Given the description of an element on the screen output the (x, y) to click on. 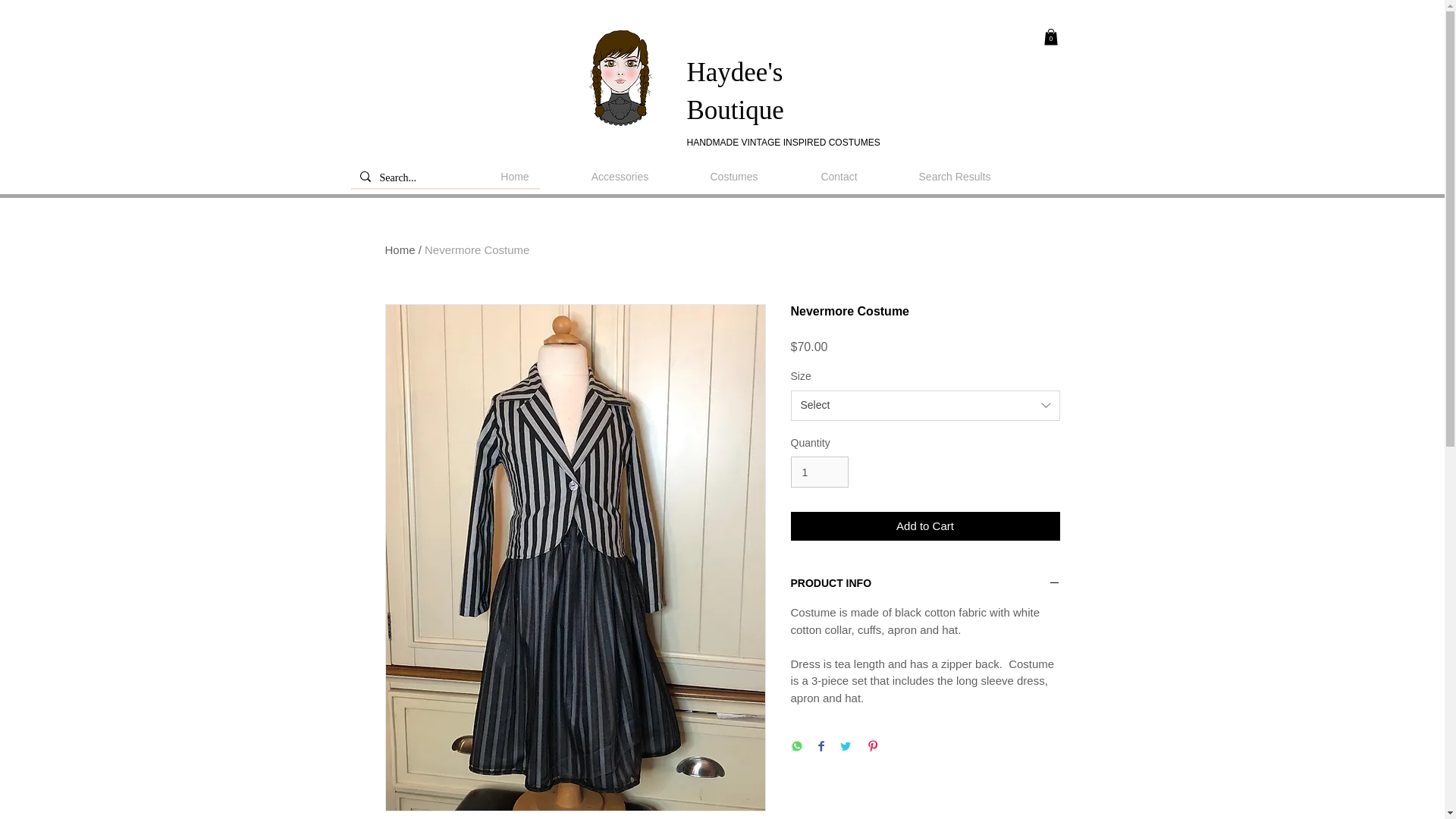
Contact (838, 176)
Costumes (734, 176)
Select (924, 405)
Logo Face.png (621, 77)
Search Results (954, 176)
Home (399, 249)
Nevermore Costume (477, 249)
Home (514, 176)
PRODUCT INFO (924, 584)
Accessories (619, 176)
Add to Cart (924, 526)
1 (818, 471)
